Given the description of an element on the screen output the (x, y) to click on. 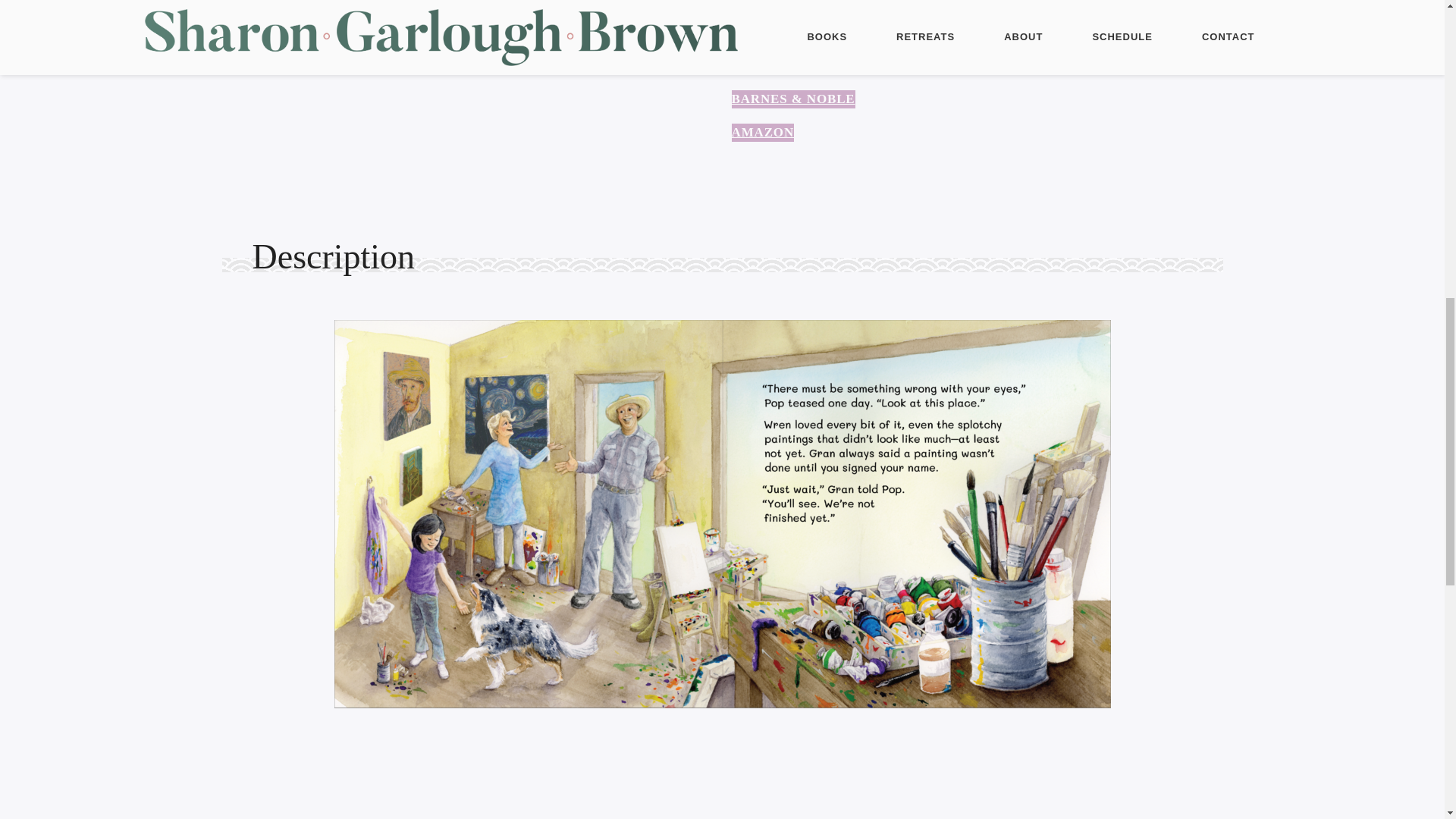
AMAZON (761, 132)
LEARN MORE (976, 3)
INTERVARSITY PRESS (806, 65)
